Given the description of an element on the screen output the (x, y) to click on. 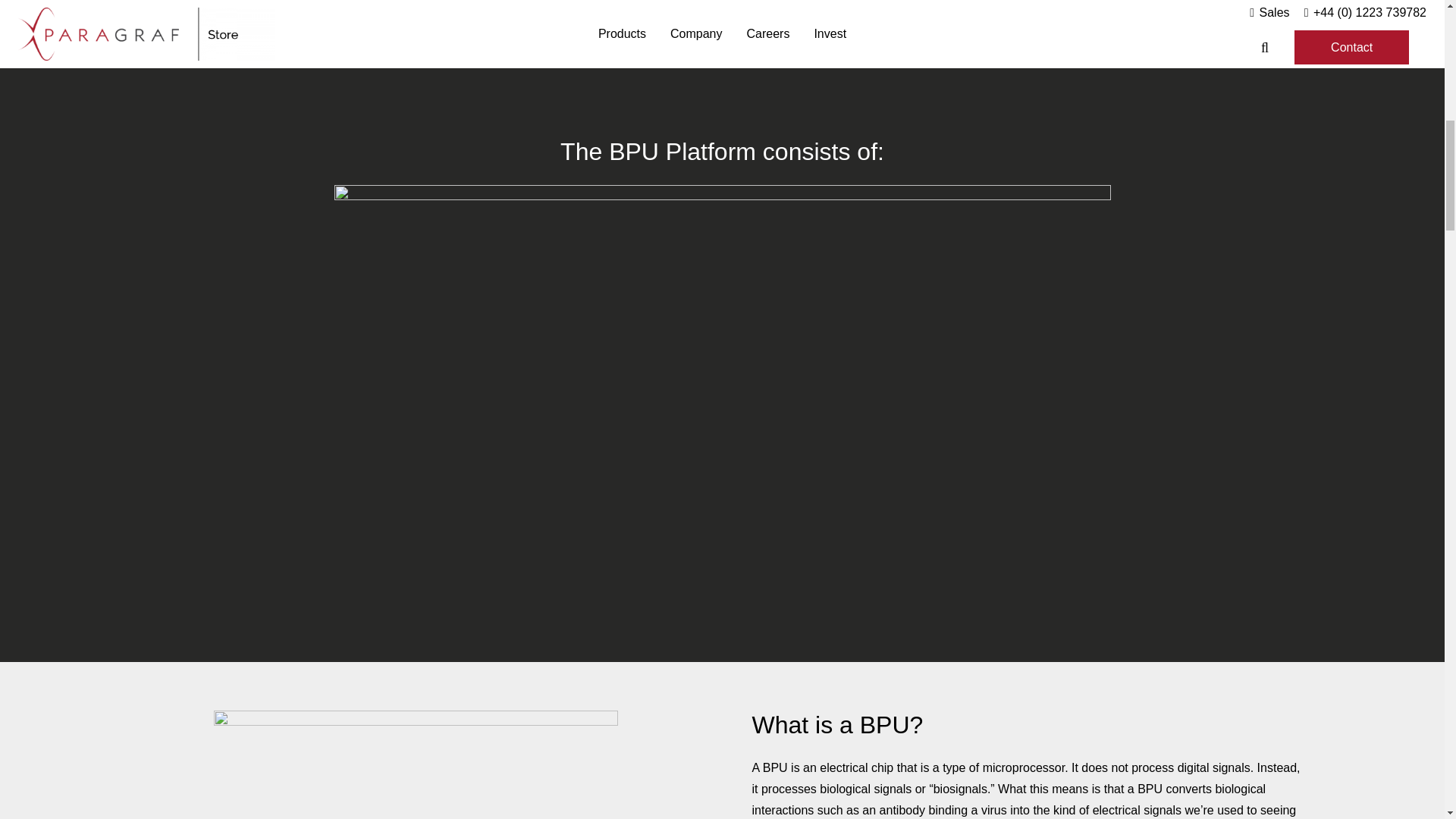
Back to top (30, 30)
YouTube video player (722, 60)
